Given the description of an element on the screen output the (x, y) to click on. 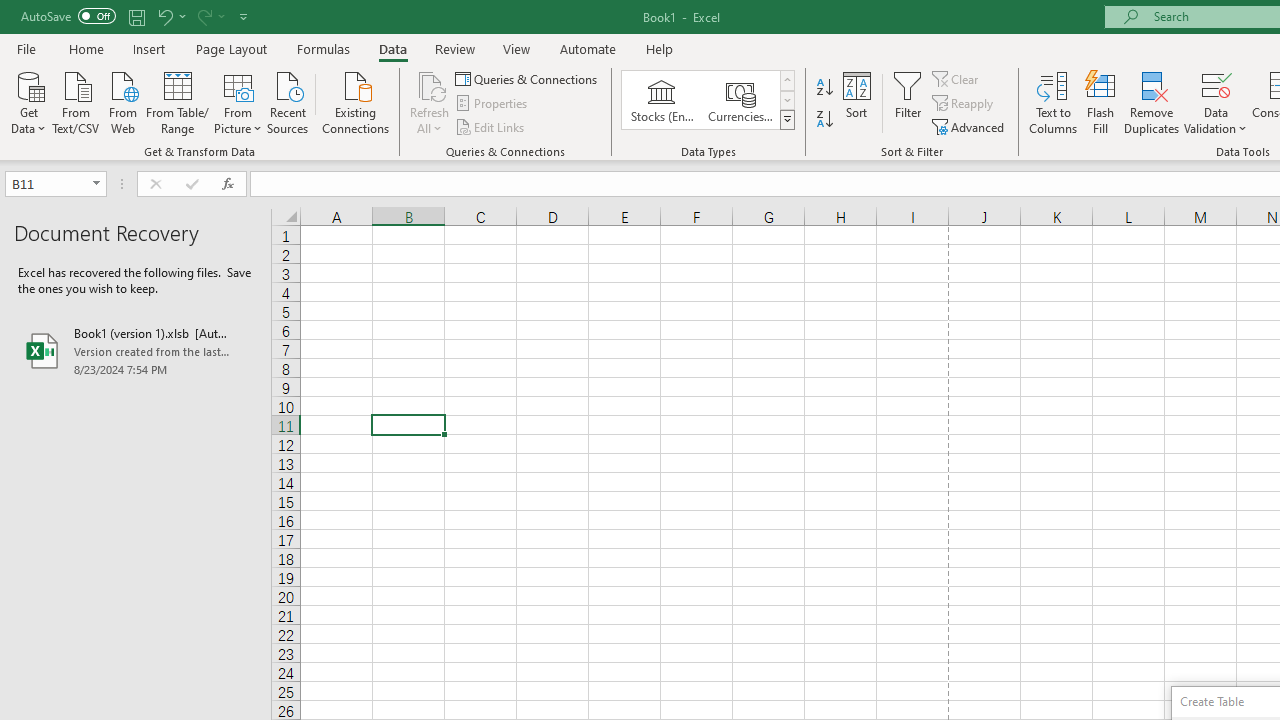
From Text/CSV (75, 101)
Reapply (964, 103)
Clear (957, 78)
Properties (492, 103)
Remove Duplicates (1151, 102)
